Given the description of an element on the screen output the (x, y) to click on. 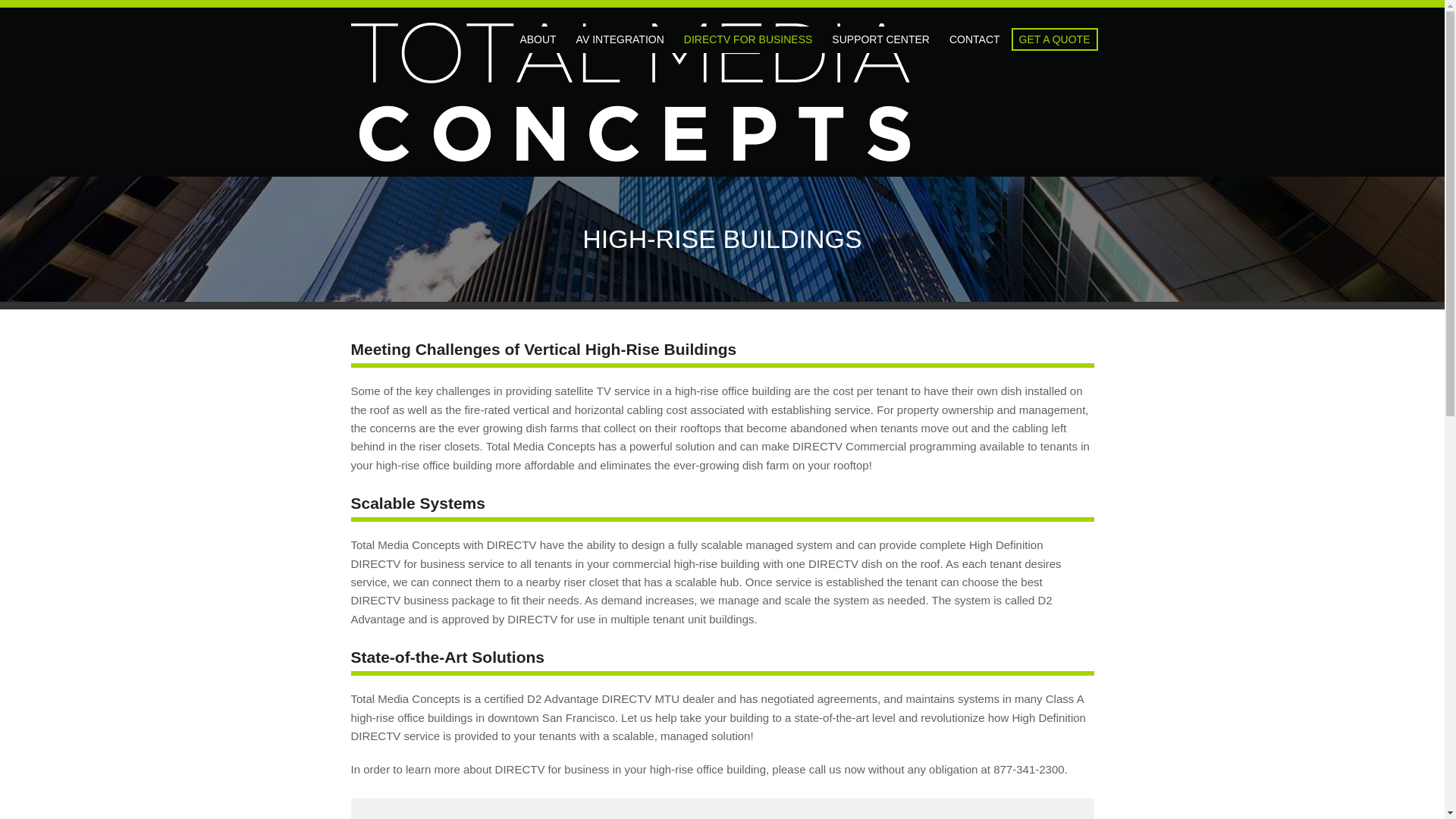
Support Center (880, 39)
Contact (974, 39)
About (537, 39)
Get A Quote (1054, 39)
AV INTEGRATION (620, 39)
AV Integration (620, 39)
DIRECTV FOR BUSINESS (748, 39)
CONTACT (974, 39)
GET A QUOTE (1054, 39)
SUPPORT CENTER (880, 39)
